Given the description of an element on the screen output the (x, y) to click on. 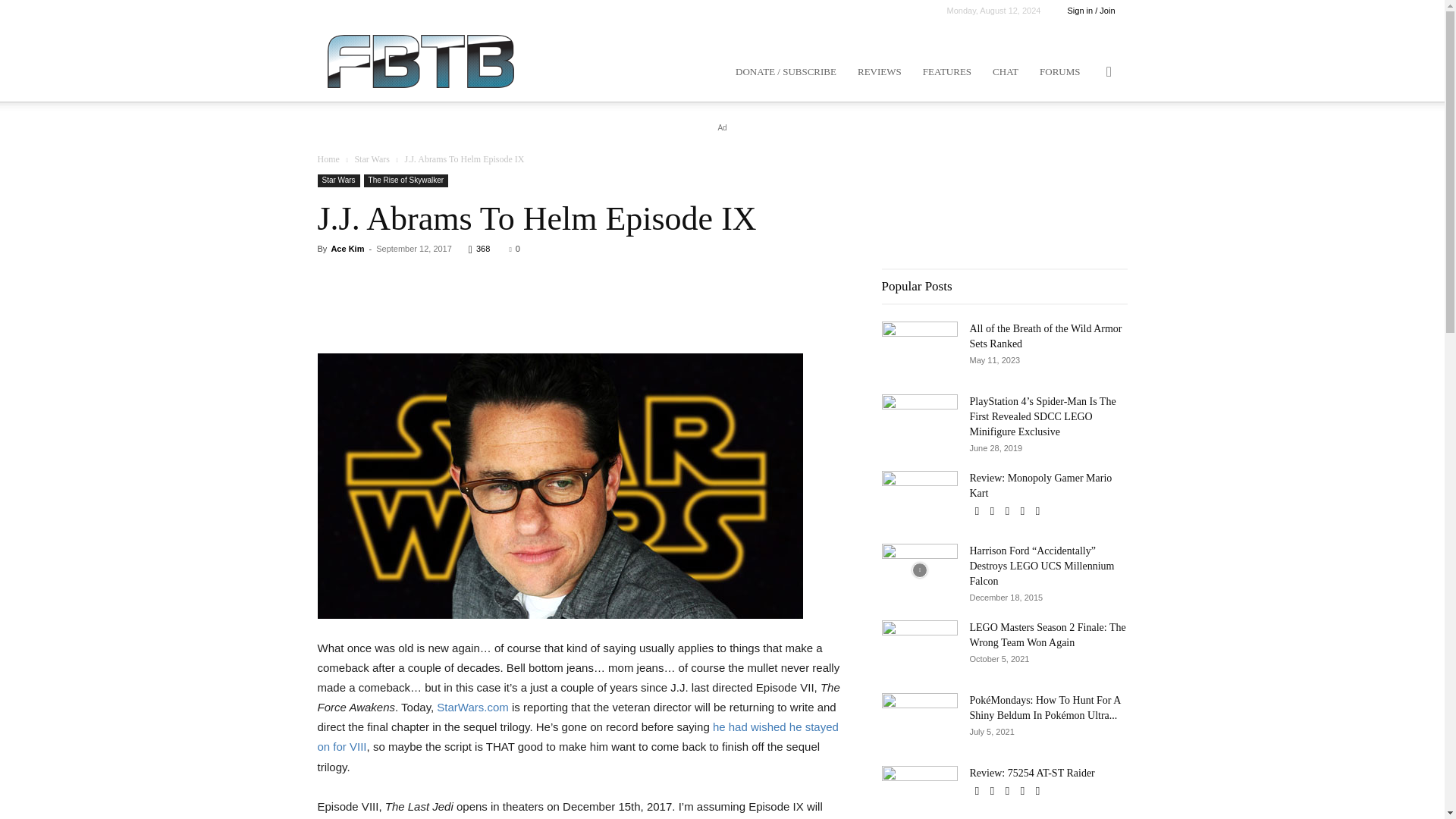
Star Wars (370, 158)
From Bricks To Bothans (419, 60)
Star Wars (338, 180)
The Rise of Skywalker (406, 180)
REVIEWS (879, 71)
Search (1085, 143)
FBTB (419, 61)
View all posts in Star Wars (370, 158)
topFacebookLike (430, 276)
Ace Kim (347, 248)
